Given the description of an element on the screen output the (x, y) to click on. 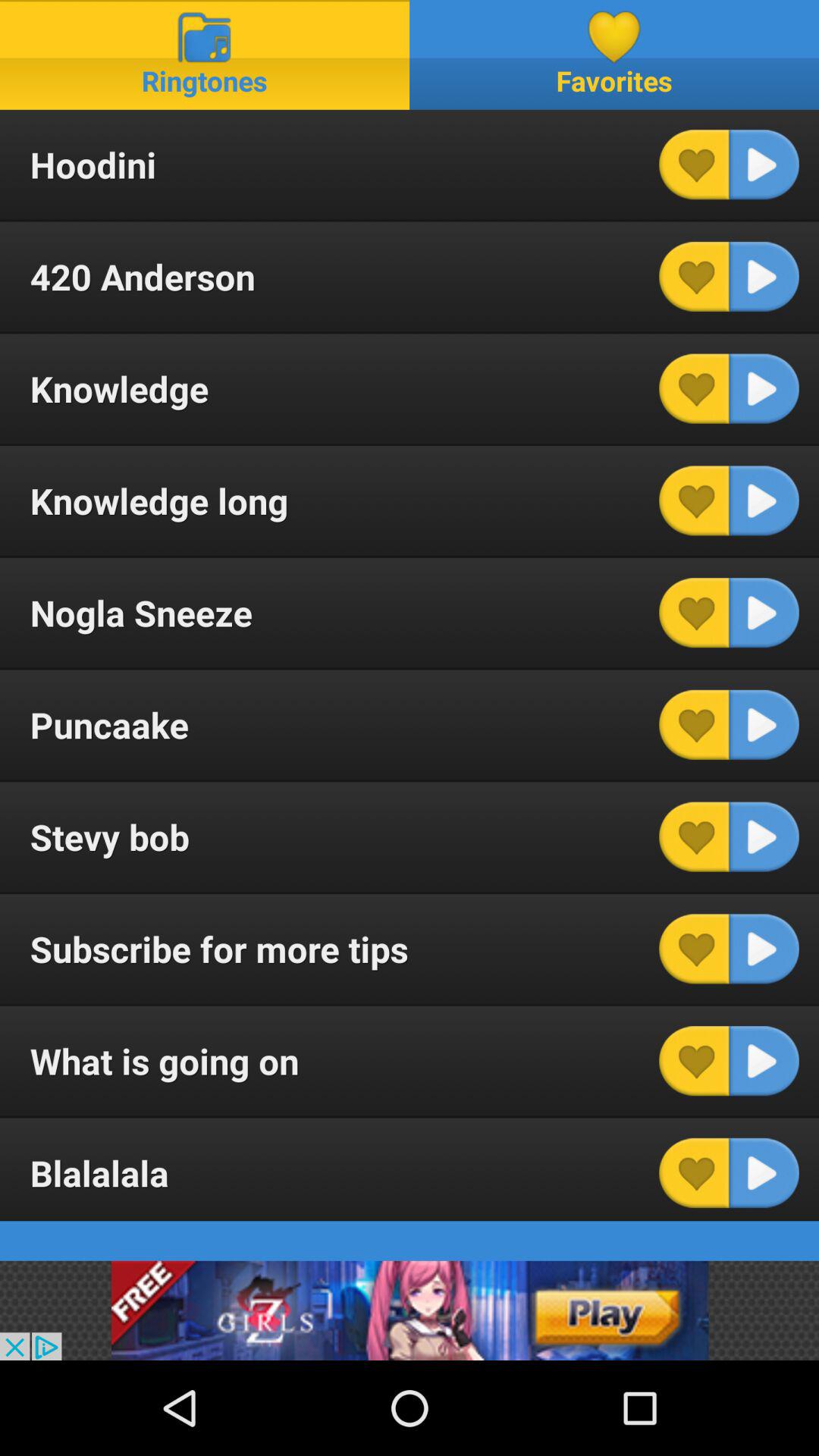
play this track (764, 1060)
